Given the description of an element on the screen output the (x, y) to click on. 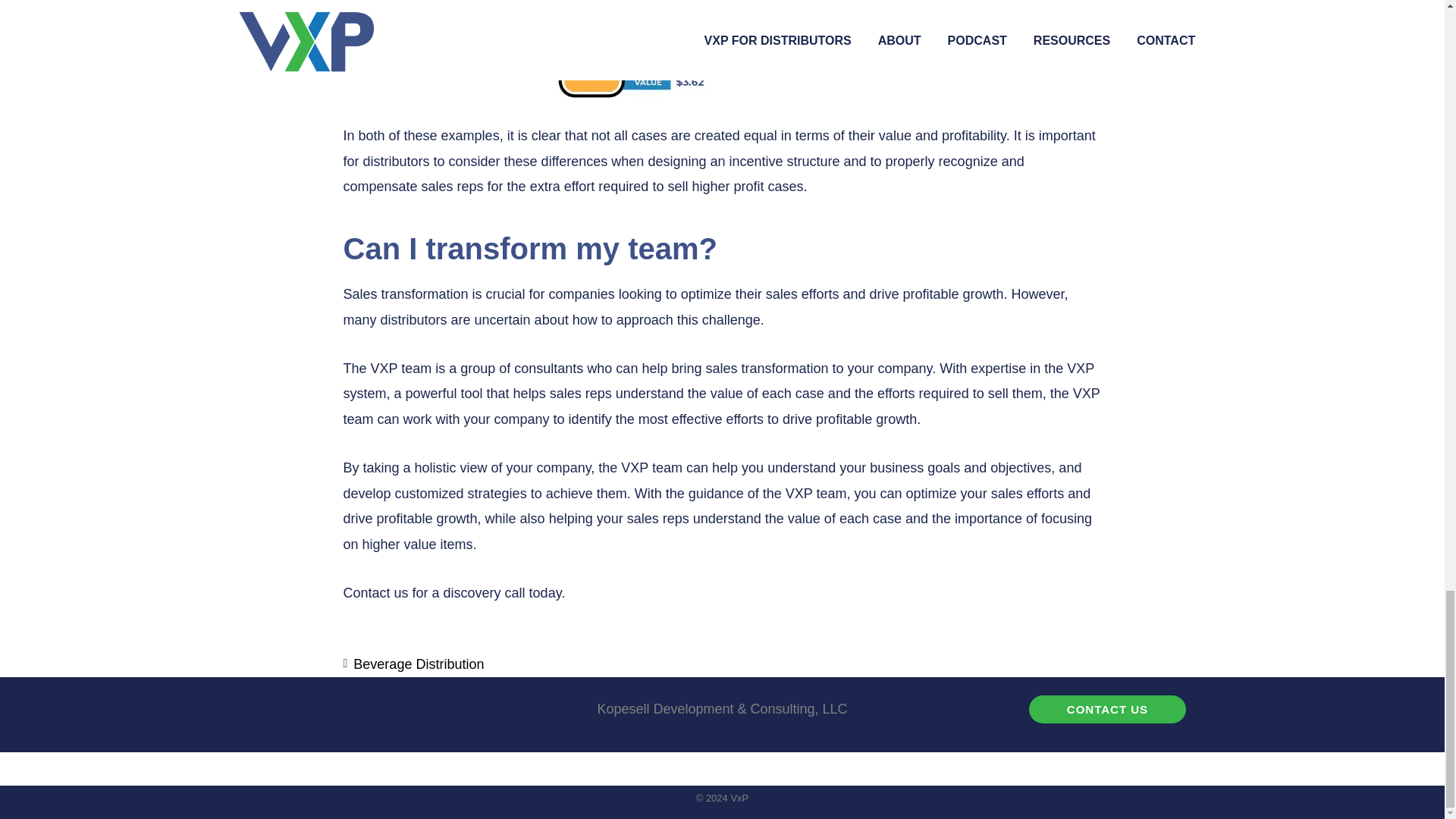
Contact us (374, 592)
314-252-8556 (721, 727)
Privacy Policy (336, 701)
Beverage Distribution (418, 663)
CONTACT US (1107, 709)
